Given the description of an element on the screen output the (x, y) to click on. 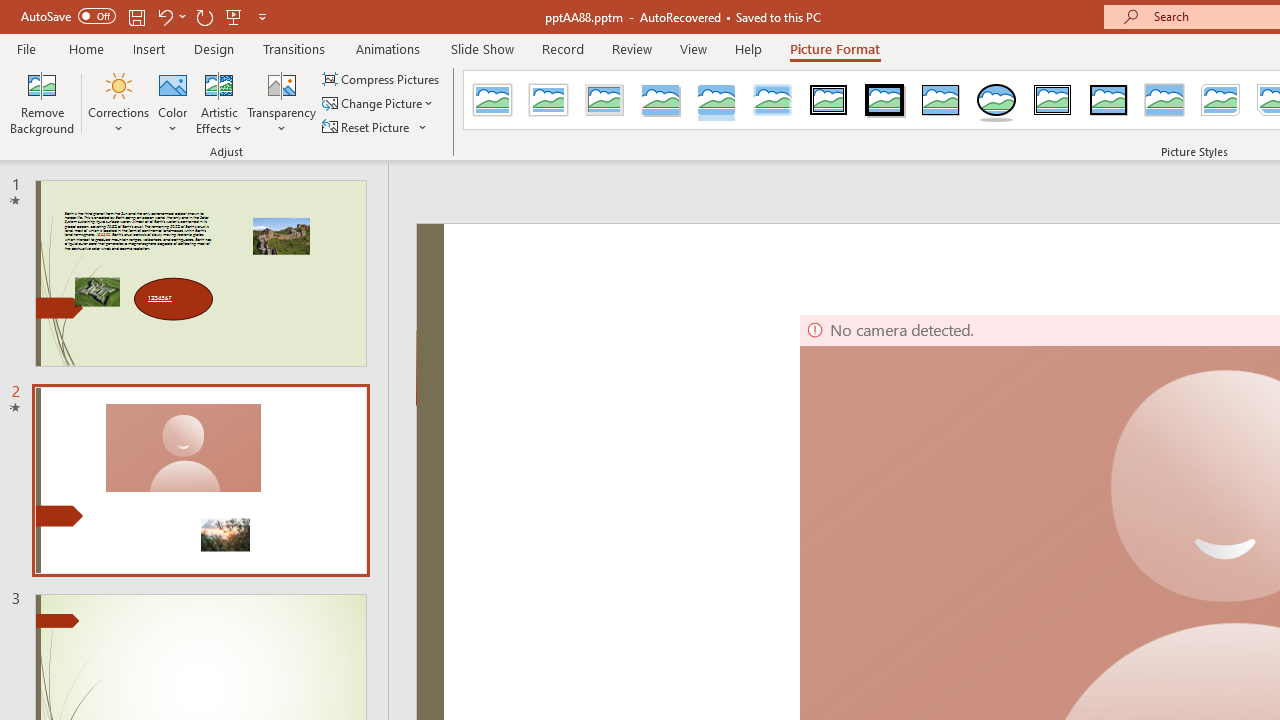
Double Frame, Black (829, 100)
Reset Picture (375, 126)
Beveled Oval, Black (996, 100)
Reflected Rounded Rectangle (716, 100)
Reset Picture (367, 126)
